Given the description of an element on the screen output the (x, y) to click on. 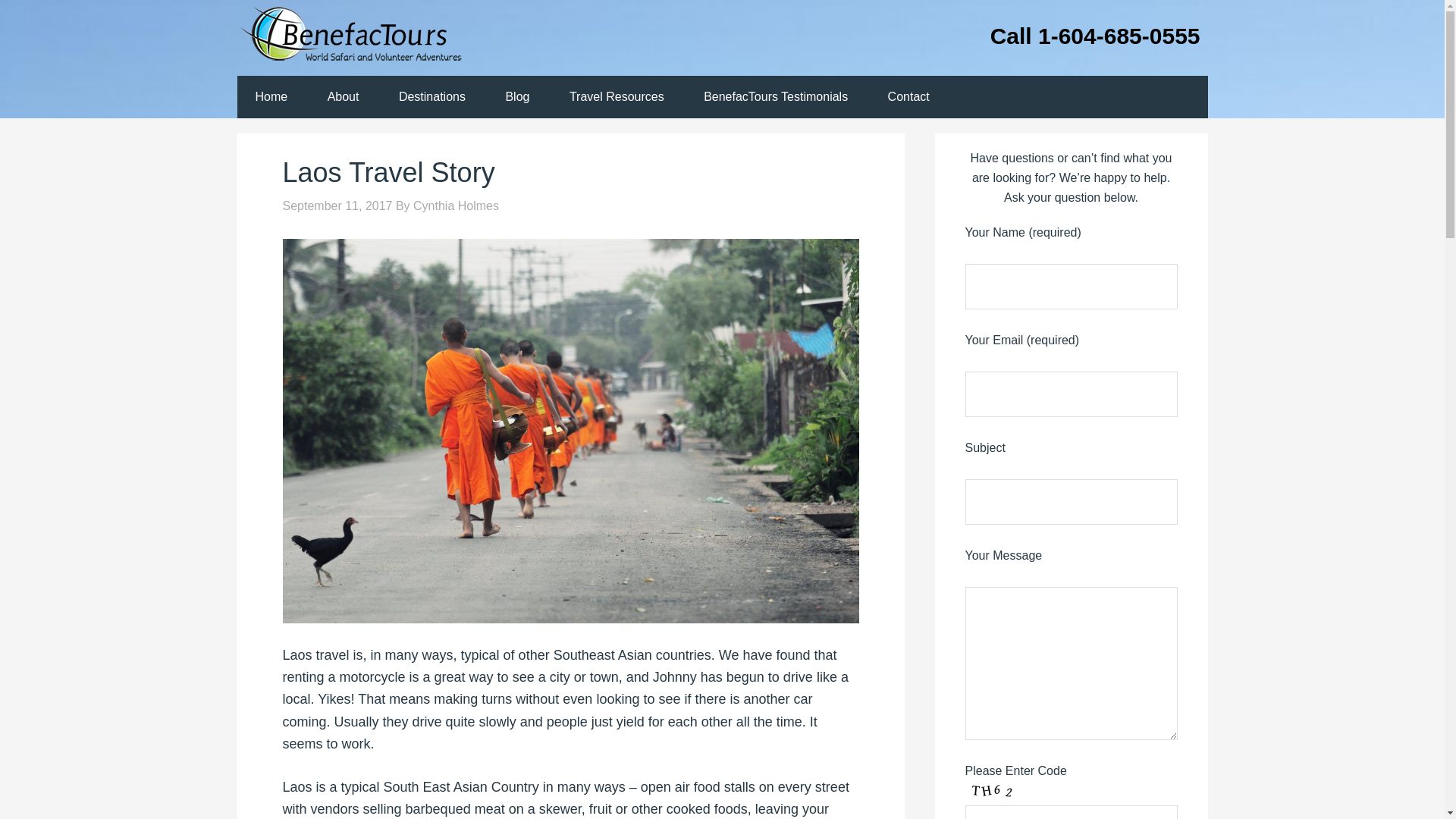
Benefactours (357, 38)
Travel Resources (616, 96)
Blog (516, 96)
BenefacTours Testimonials (775, 96)
About (342, 96)
Cynthia Holmes (456, 205)
Home (270, 96)
Destinations (431, 96)
Contact (908, 96)
